Given the description of an element on the screen output the (x, y) to click on. 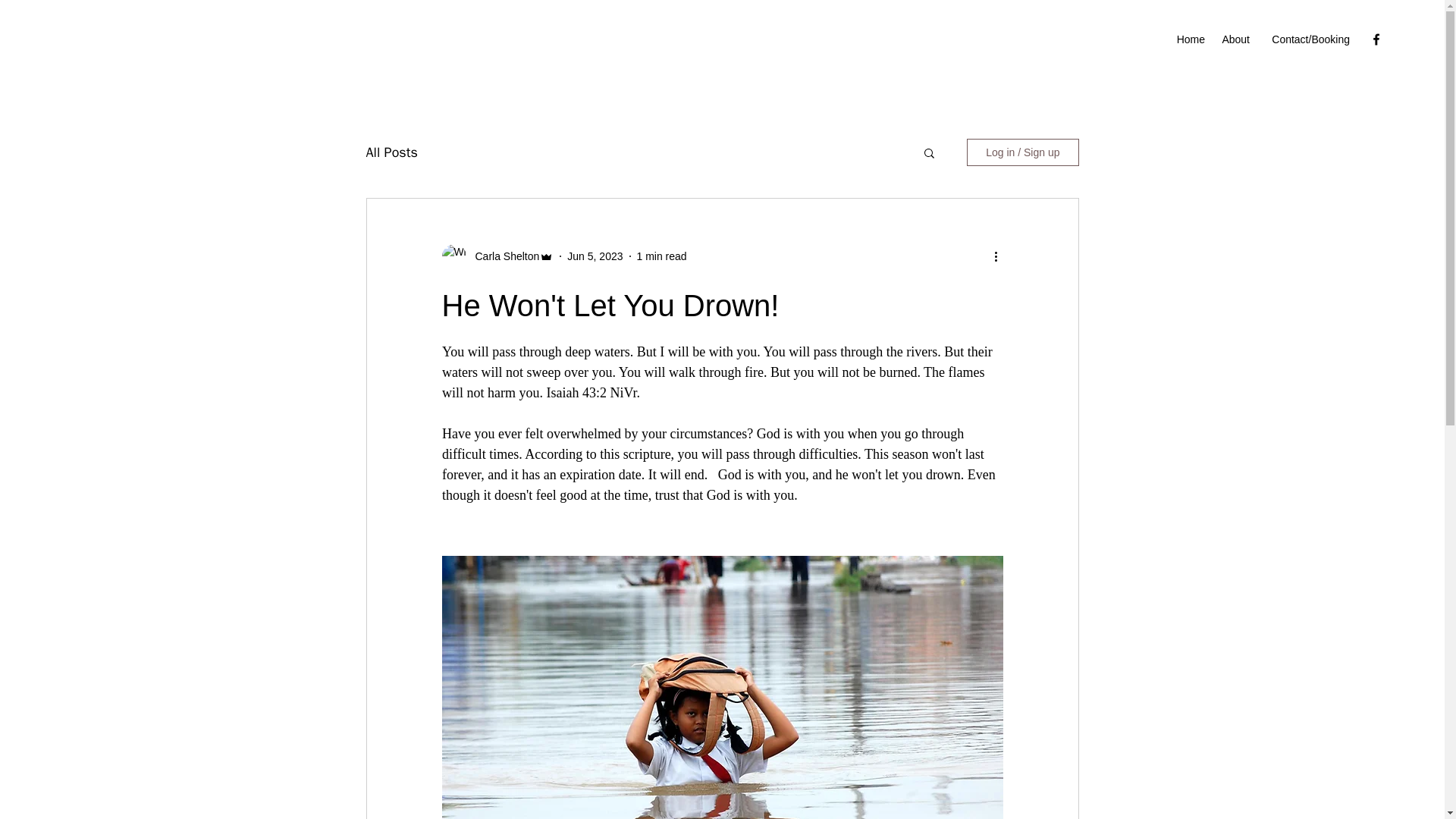
About (1234, 38)
1 min read (662, 256)
Carla Shelton (501, 256)
Jun 5, 2023 (595, 256)
All Posts (390, 152)
Home (1189, 38)
